Given the description of an element on the screen output the (x, y) to click on. 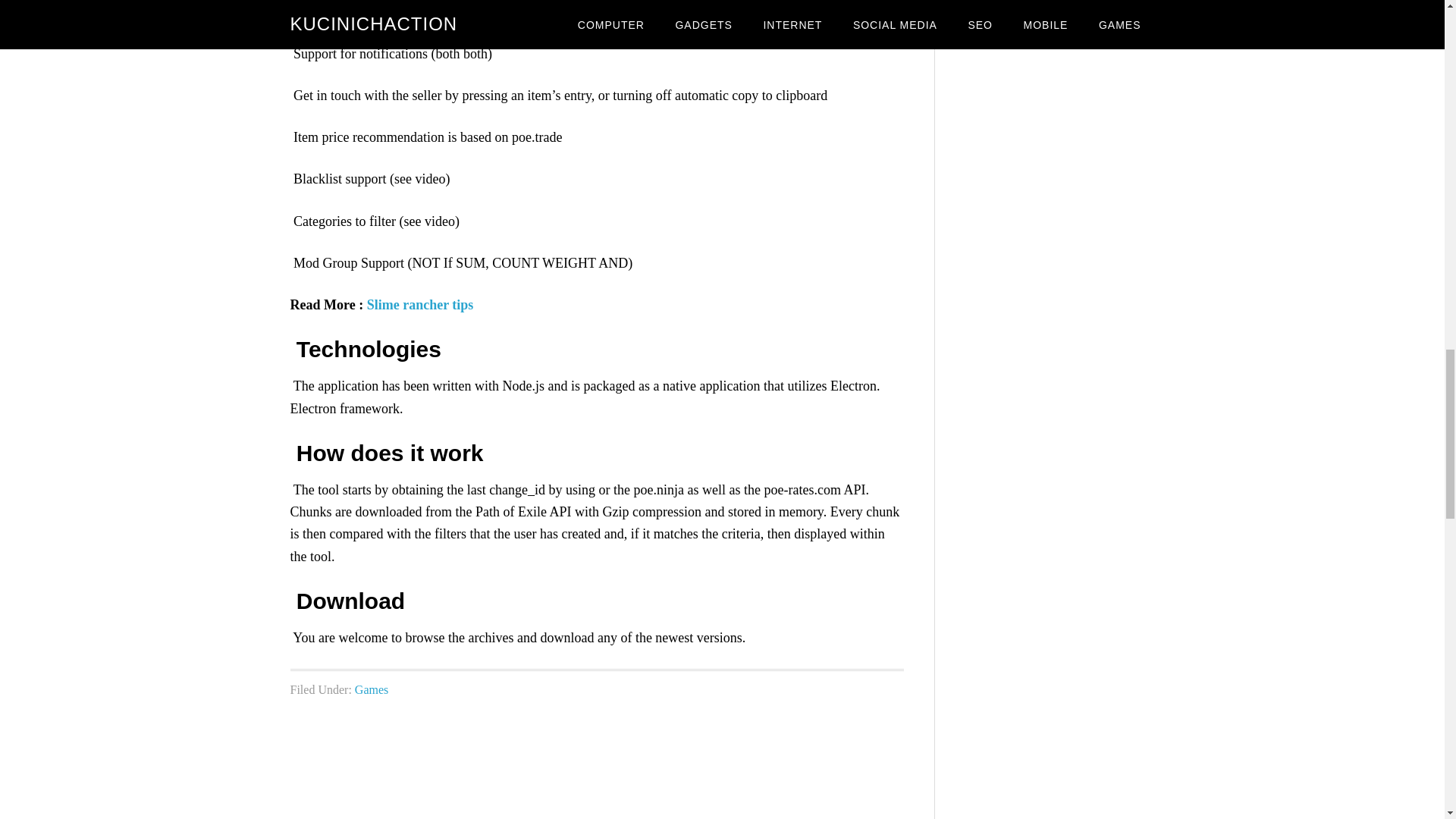
Games (371, 689)
Advertisement (595, 774)
Slime rancher tips (420, 304)
